Given the description of an element on the screen output the (x, y) to click on. 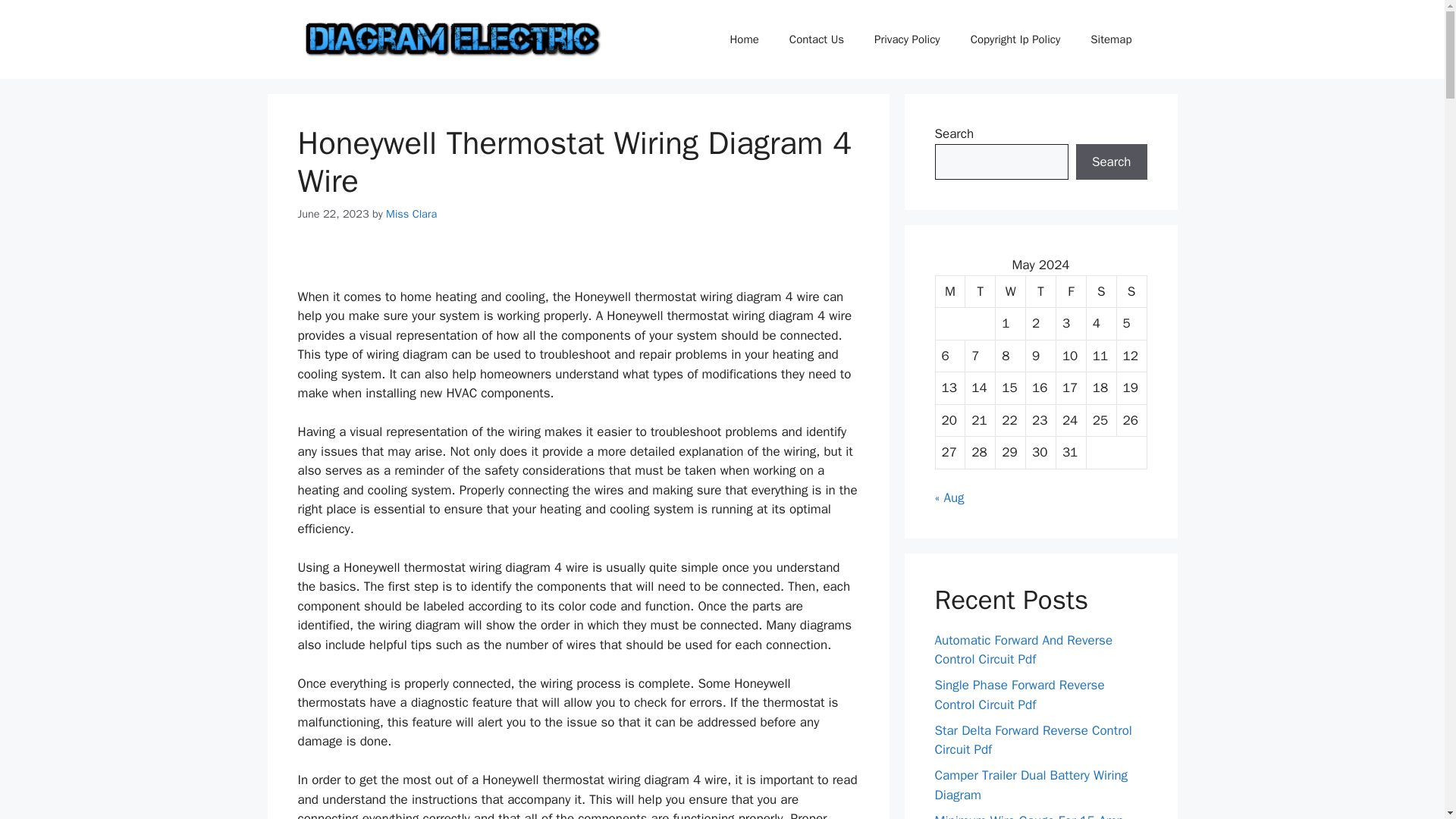
Copyright Ip Policy (1015, 39)
Search (1111, 162)
Home (743, 39)
Minimum Wire Gauge For 15 Amp Circuit (1028, 816)
Automatic Forward And Reverse Control Circuit Pdf (1023, 650)
Contact Us (816, 39)
Camper Trailer Dual Battery Wiring Diagram (1030, 785)
Single Phase Forward Reverse Control Circuit Pdf (1018, 694)
Miss Clara (410, 213)
View all posts by Miss Clara (410, 213)
Sitemap (1111, 39)
Privacy Policy (907, 39)
Star Delta Forward Reverse Control Circuit Pdf (1032, 739)
